Given the description of an element on the screen output the (x, y) to click on. 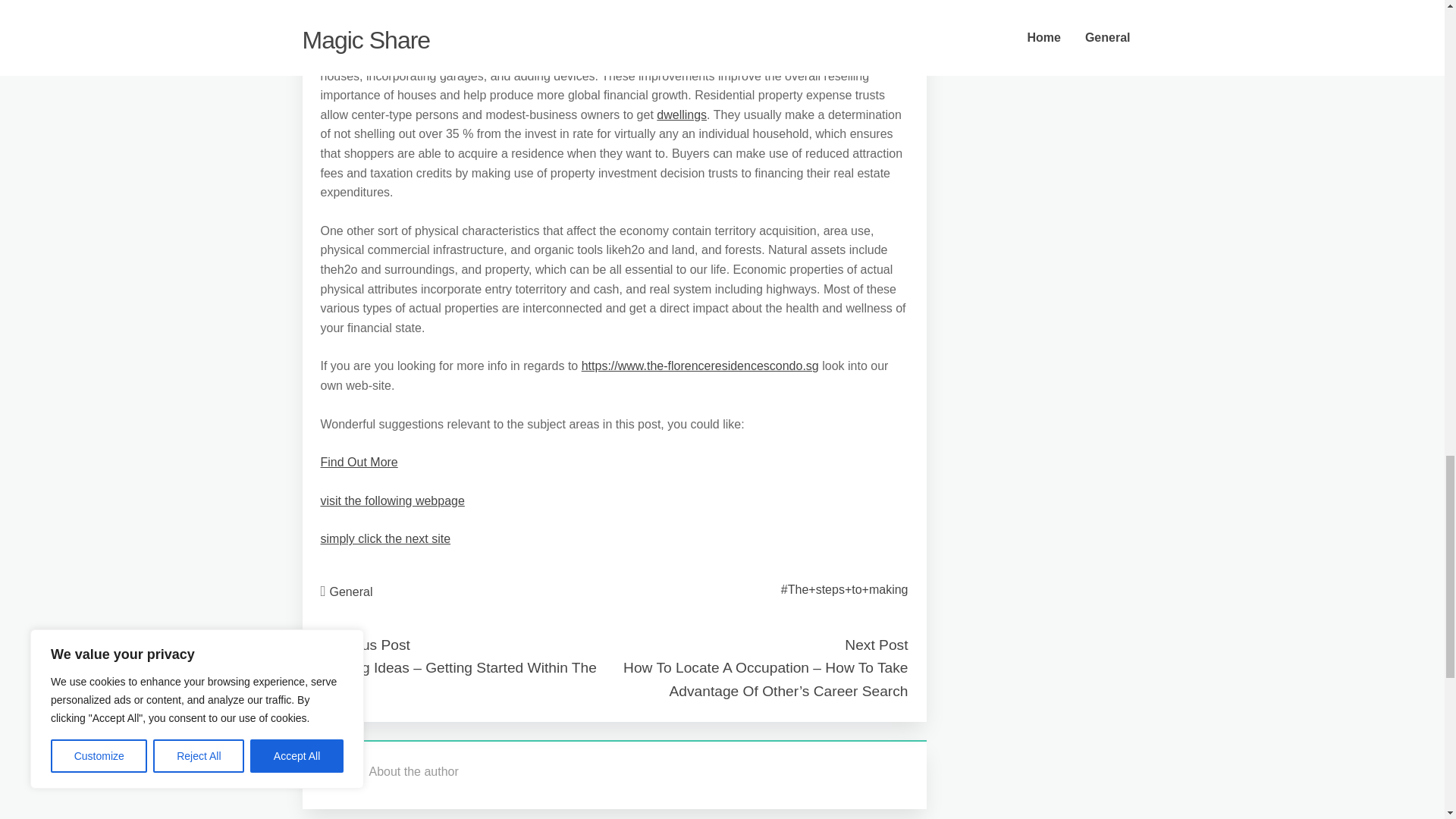
Previous Post (364, 644)
dwellings (681, 114)
General (351, 591)
visit the following webpage (392, 500)
simply click the next site (384, 538)
Find Out More (358, 461)
Next Post (875, 644)
